Given the description of an element on the screen output the (x, y) to click on. 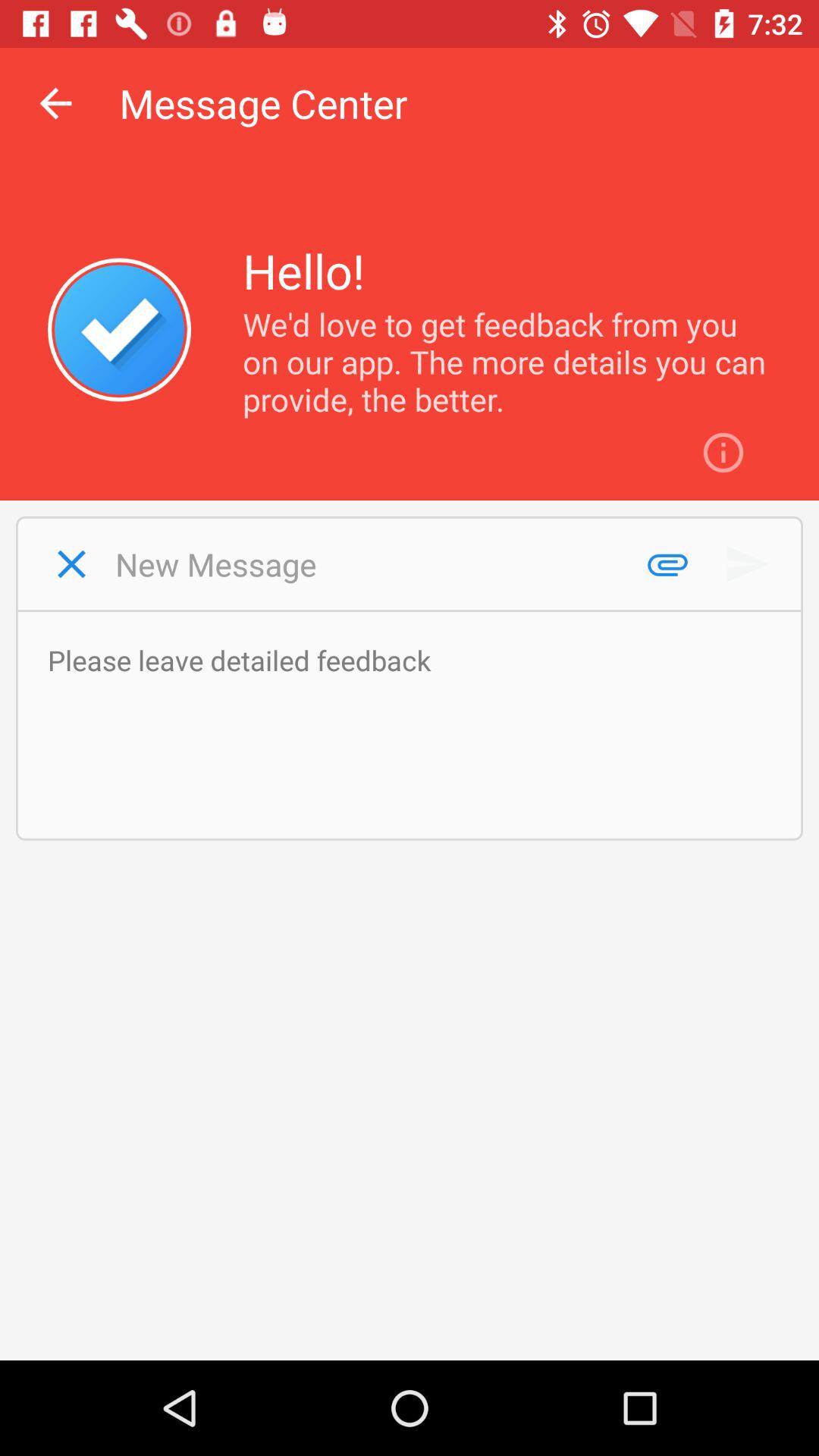
detailed feedback field (417, 724)
